Given the description of an element on the screen output the (x, y) to click on. 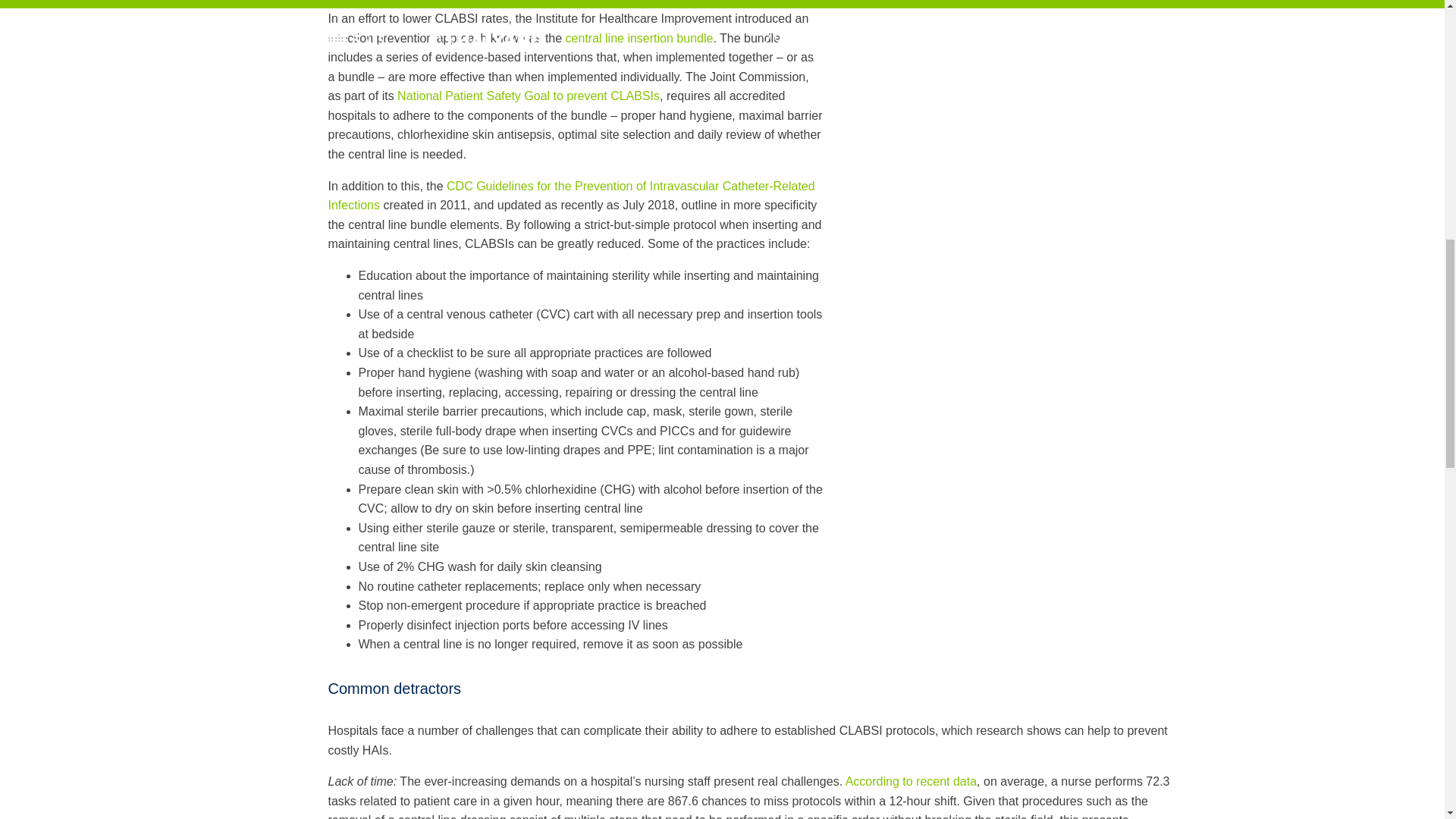
Central line Insertion Bundle (639, 38)
National Patient Safety Goal to prevent CLABSIs (528, 95)
